Given the description of an element on the screen output the (x, y) to click on. 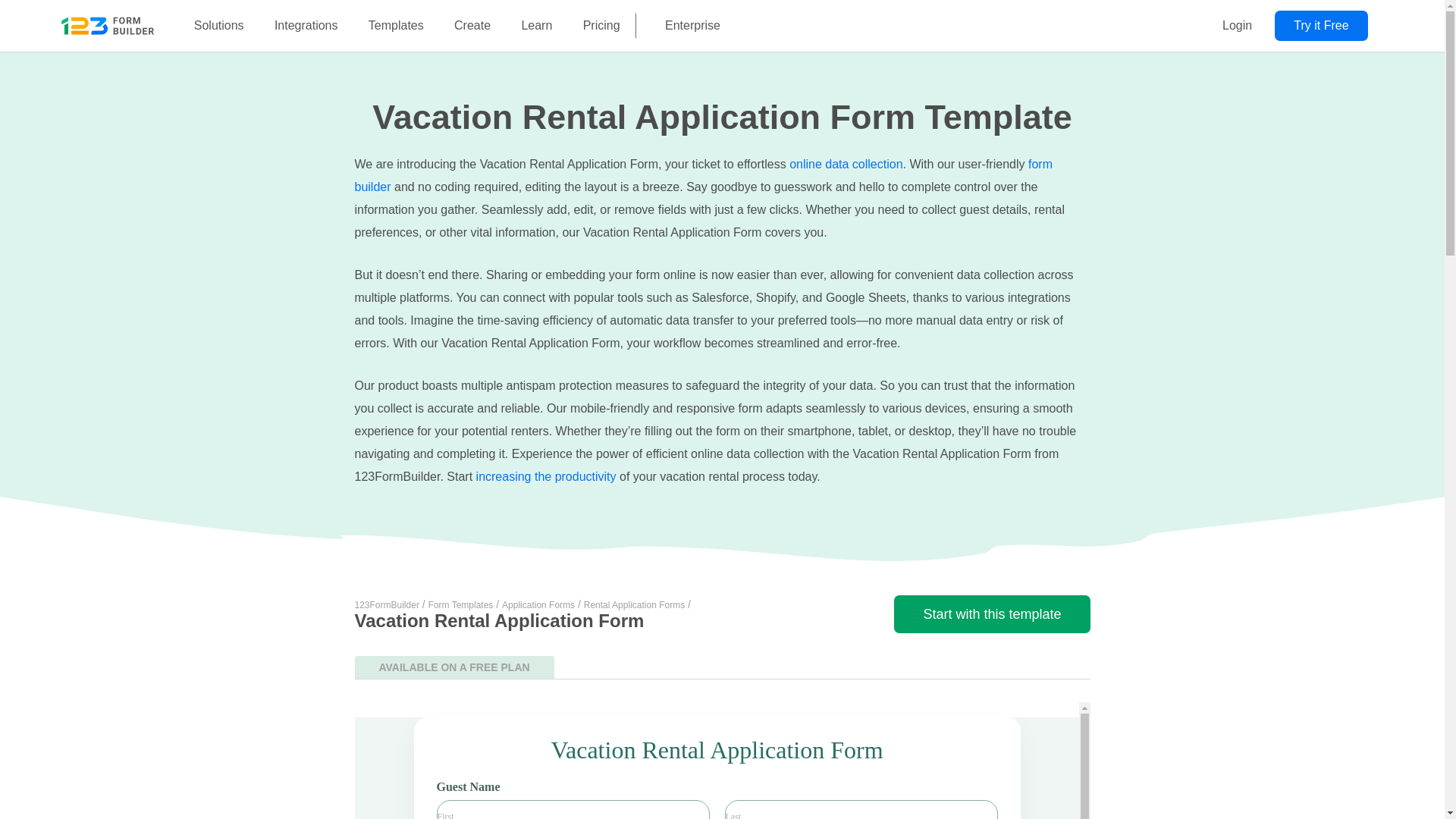
Integrations (306, 25)
Login to your account (1236, 25)
Solutions (219, 25)
Live Chat Button (1414, 788)
